Given the description of an element on the screen output the (x, y) to click on. 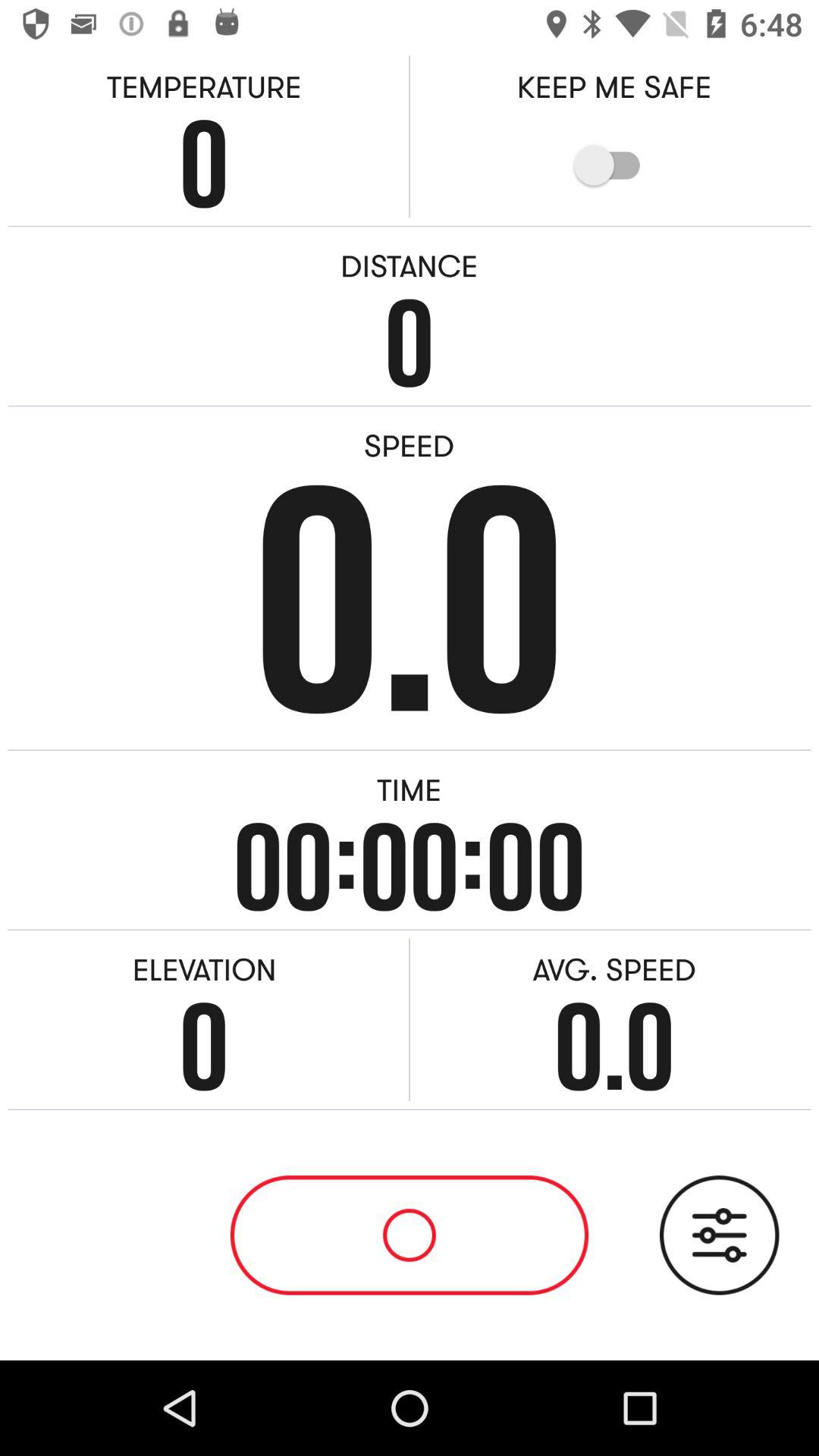
start (409, 1235)
